Given the description of an element on the screen output the (x, y) to click on. 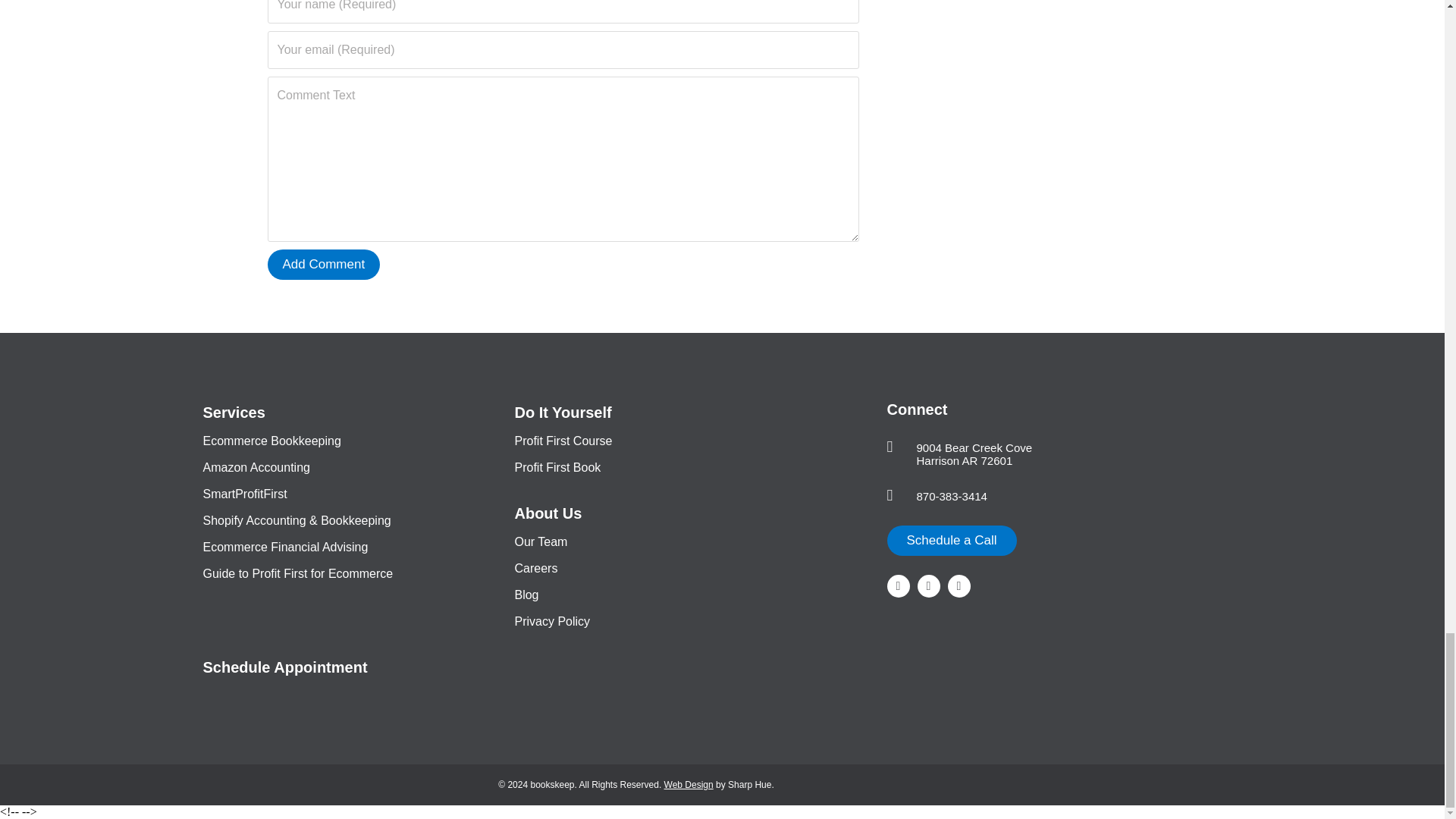
Privacy Policy  (832, 784)
Add Comment (323, 264)
Cookie Policy  (918, 784)
Add Comment (323, 264)
